Given the description of an element on the screen output the (x, y) to click on. 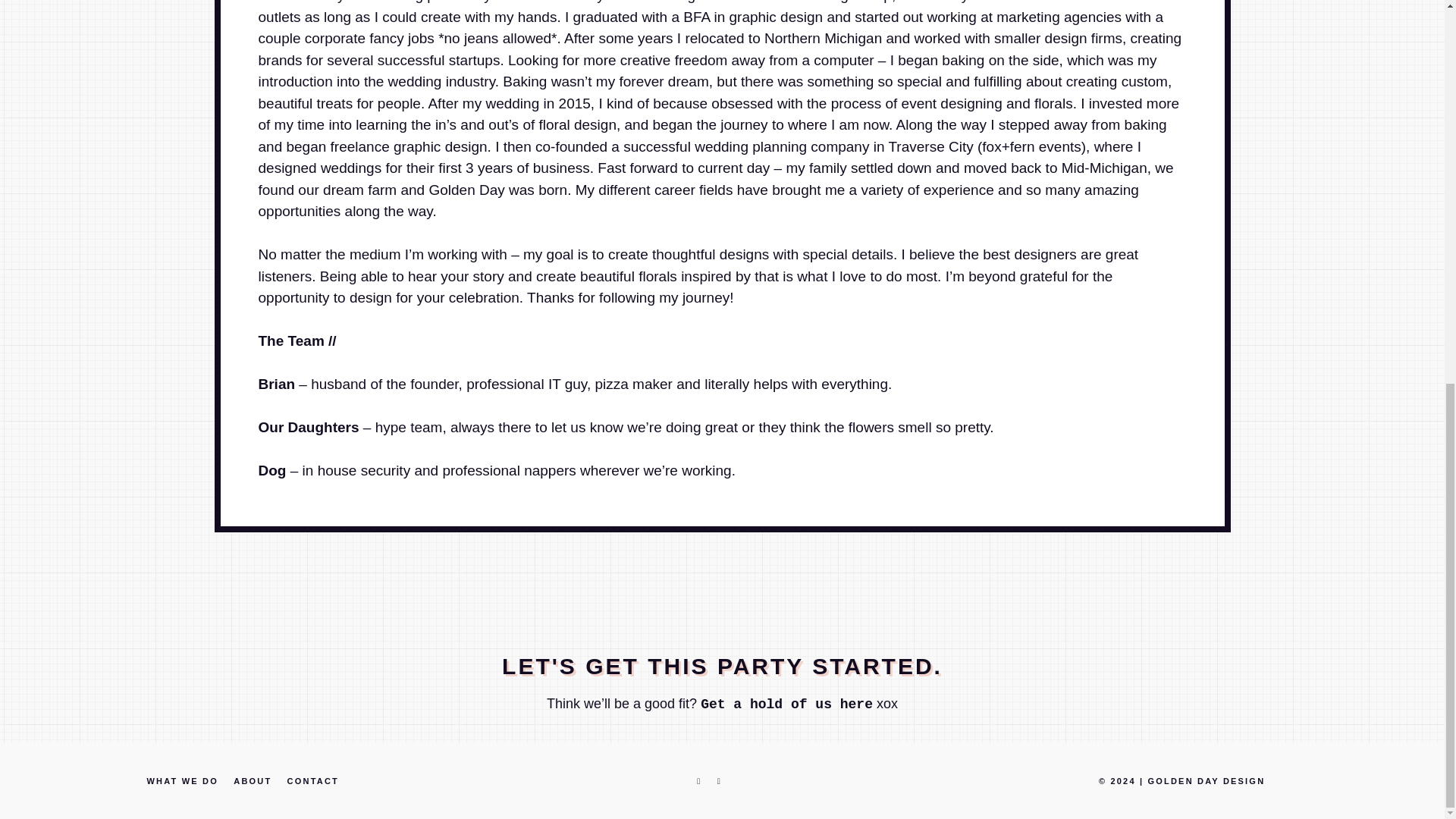
ABOUT (251, 780)
Get a hold of us here (786, 703)
GOLDEN DAY DESIGN (1206, 780)
CONTACT (312, 780)
WHAT WE DO (182, 780)
